Given the description of an element on the screen output the (x, y) to click on. 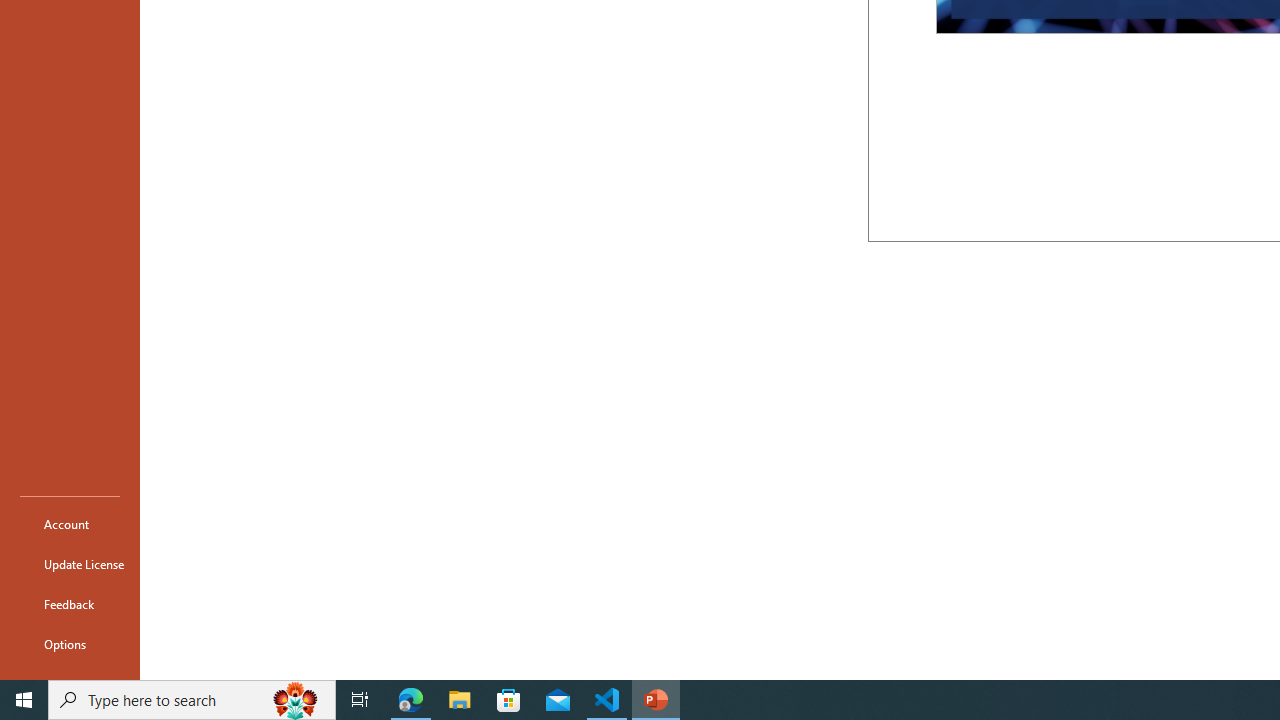
Options (69, 643)
Account (69, 523)
Update License (69, 563)
Feedback (69, 603)
